Given the description of an element on the screen output the (x, y) to click on. 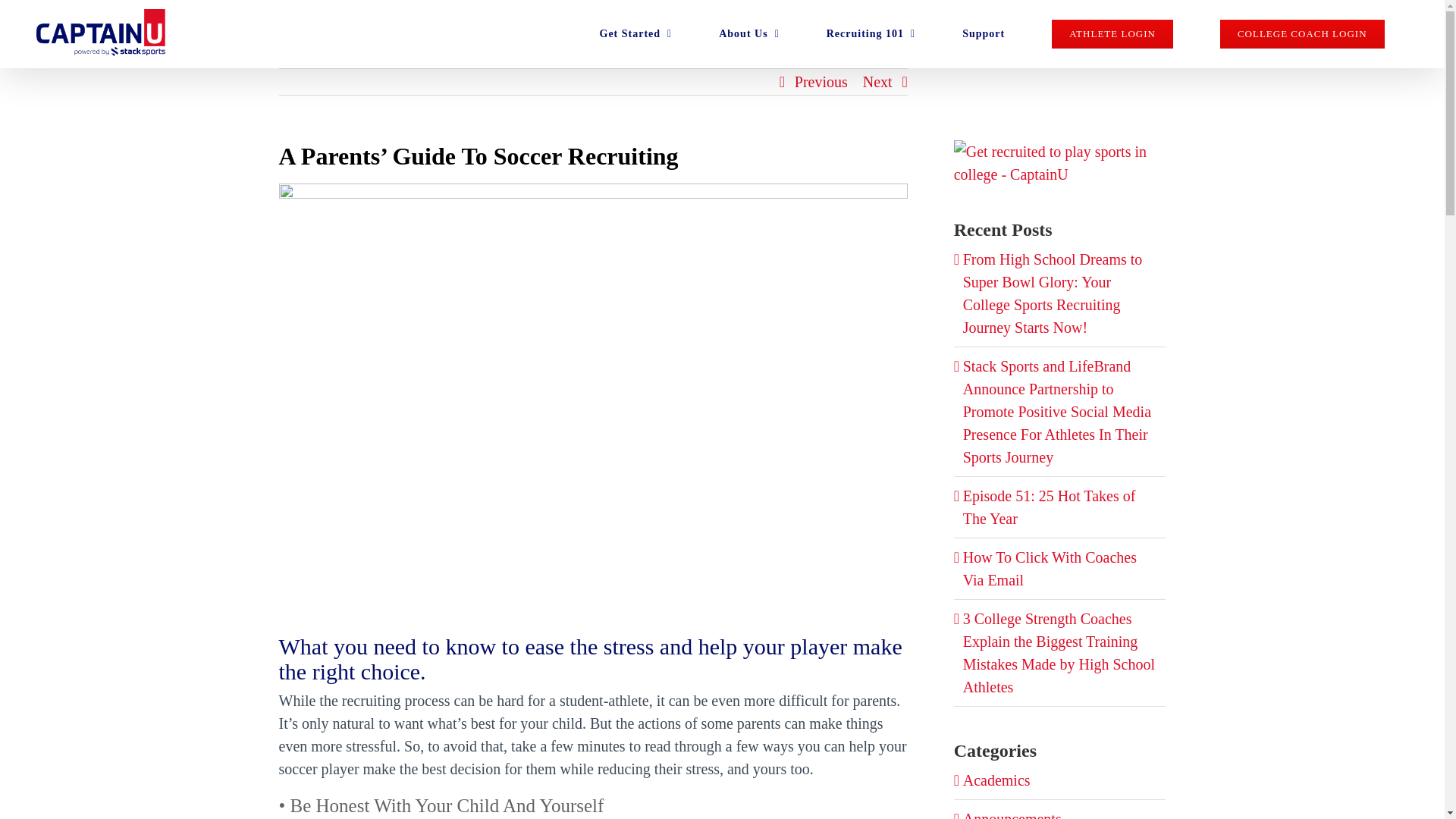
Support (983, 33)
Get Started (635, 33)
ATHLETE LOGIN (1111, 33)
Recruiting 101 (871, 33)
COLLEGE COACH LOGIN (1301, 33)
About Us (749, 33)
